Given the description of an element on the screen output the (x, y) to click on. 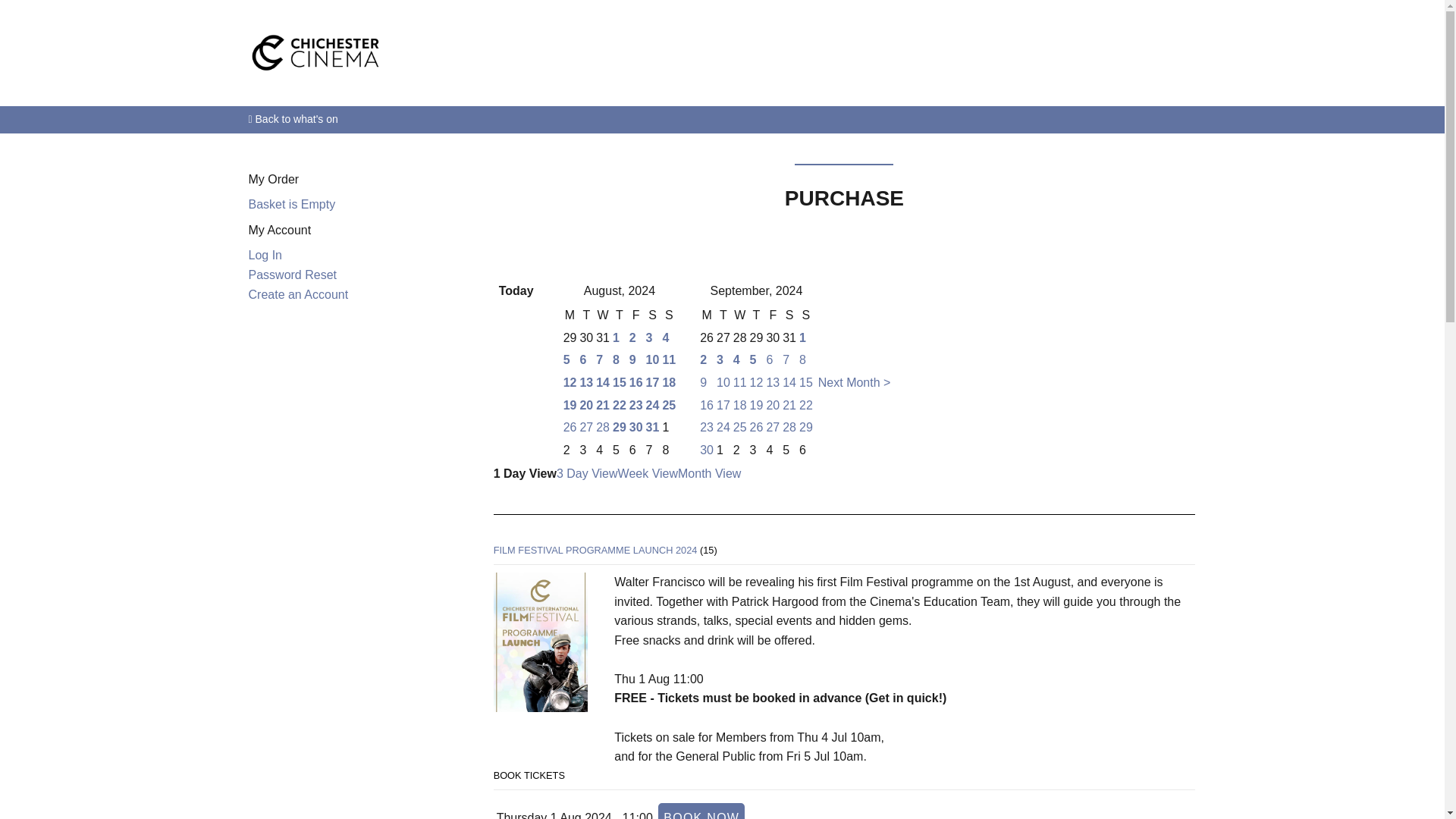
20 (585, 404)
16 (635, 382)
Password Reset (292, 274)
18 (668, 382)
13 (585, 382)
Back to what's on (722, 119)
19 (569, 404)
15 (619, 382)
14 (602, 382)
17 (652, 382)
21 (602, 404)
11 (668, 359)
Log In (265, 254)
10 (652, 359)
Basket is Empty (292, 204)
